Given the description of an element on the screen output the (x, y) to click on. 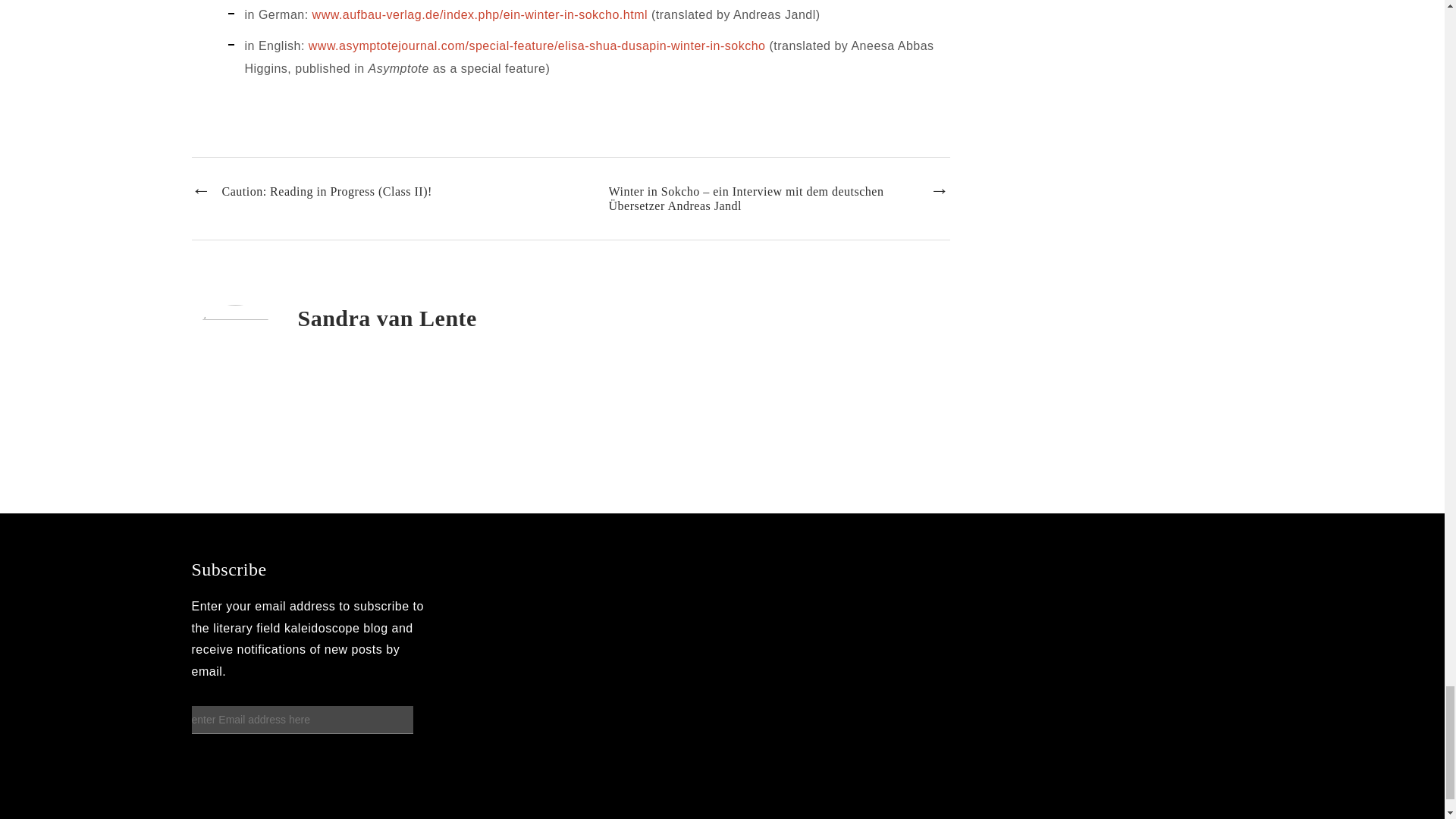
Sandra van Lente (386, 317)
Subscribe (236, 770)
View all posts by Sandra van Lente (386, 317)
